Given the description of an element on the screen output the (x, y) to click on. 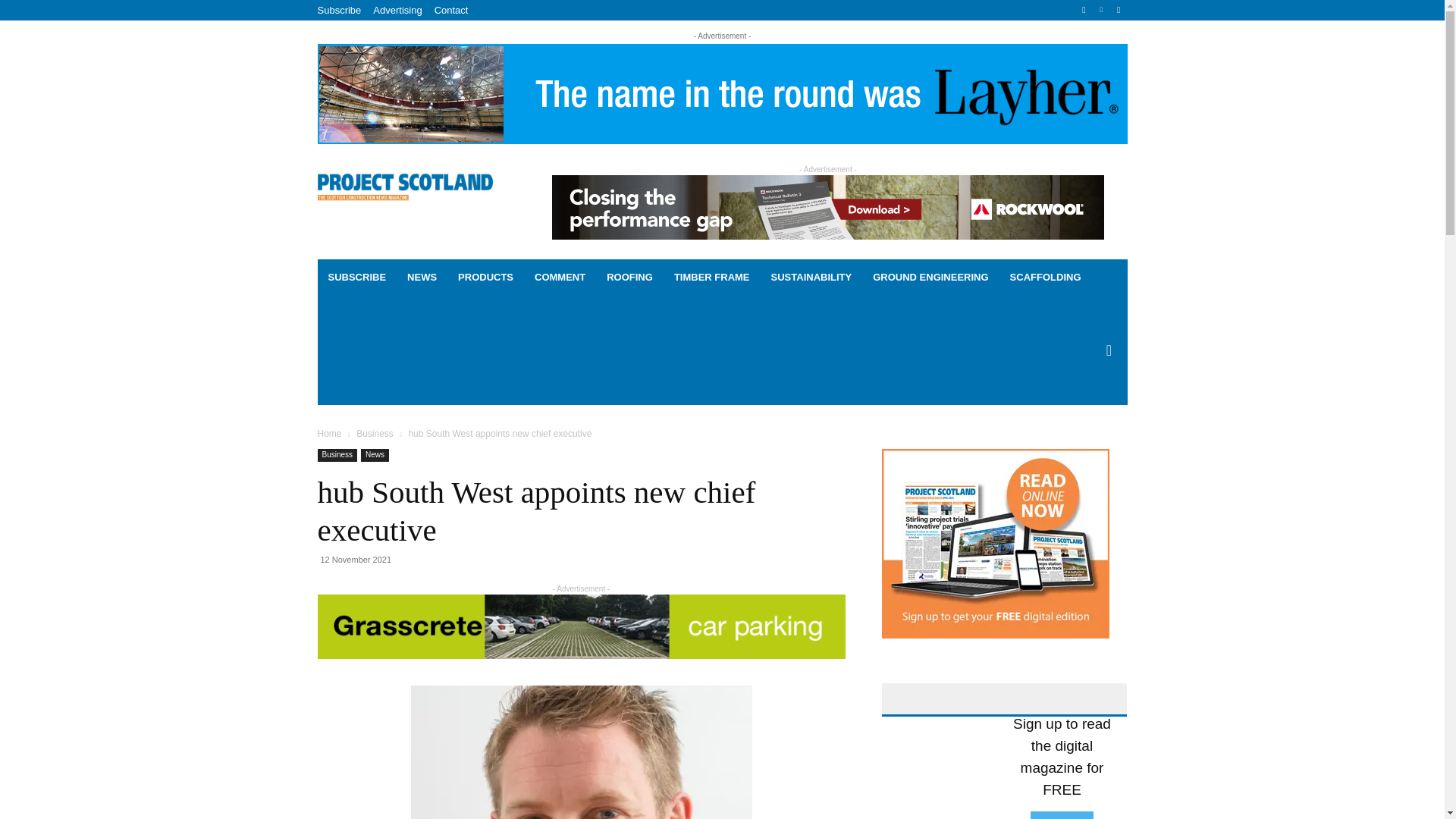
SUSTAINABILITY (811, 277)
SUBSCRIBE (356, 277)
Advertising (397, 9)
TIMBER FRAME (711, 277)
GROUND ENGINEERING (929, 277)
Home (328, 433)
Subscribe (339, 9)
Project Scotland (404, 185)
Facebook (1084, 9)
ROOFING (629, 277)
PRODUCTS (485, 277)
View all posts in Business (374, 433)
Contact (450, 9)
SCAFFOLDING (1045, 277)
NEWS (421, 277)
